Given the description of an element on the screen output the (x, y) to click on. 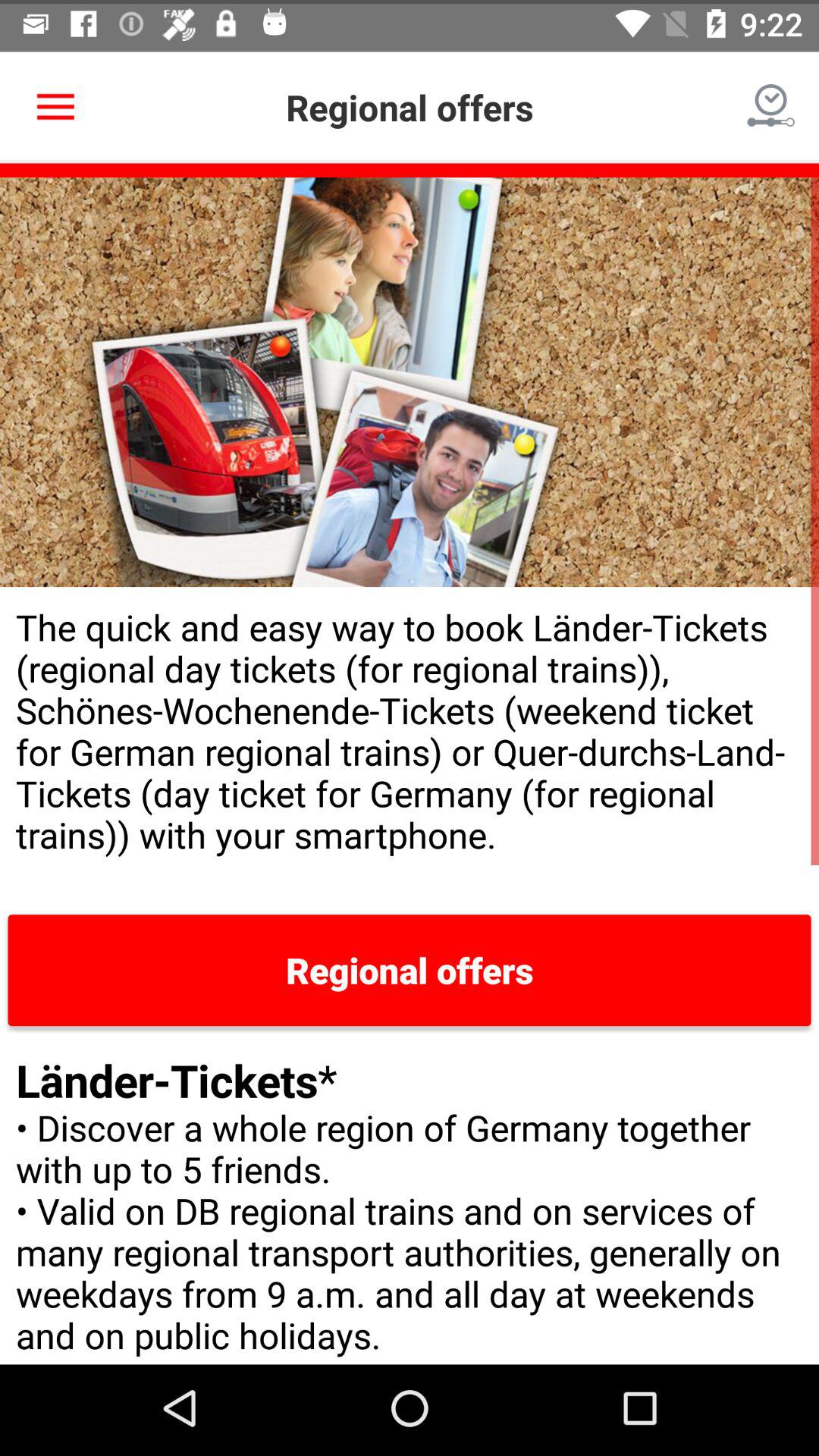
select item next to regional offers icon (55, 103)
